Given the description of an element on the screen output the (x, y) to click on. 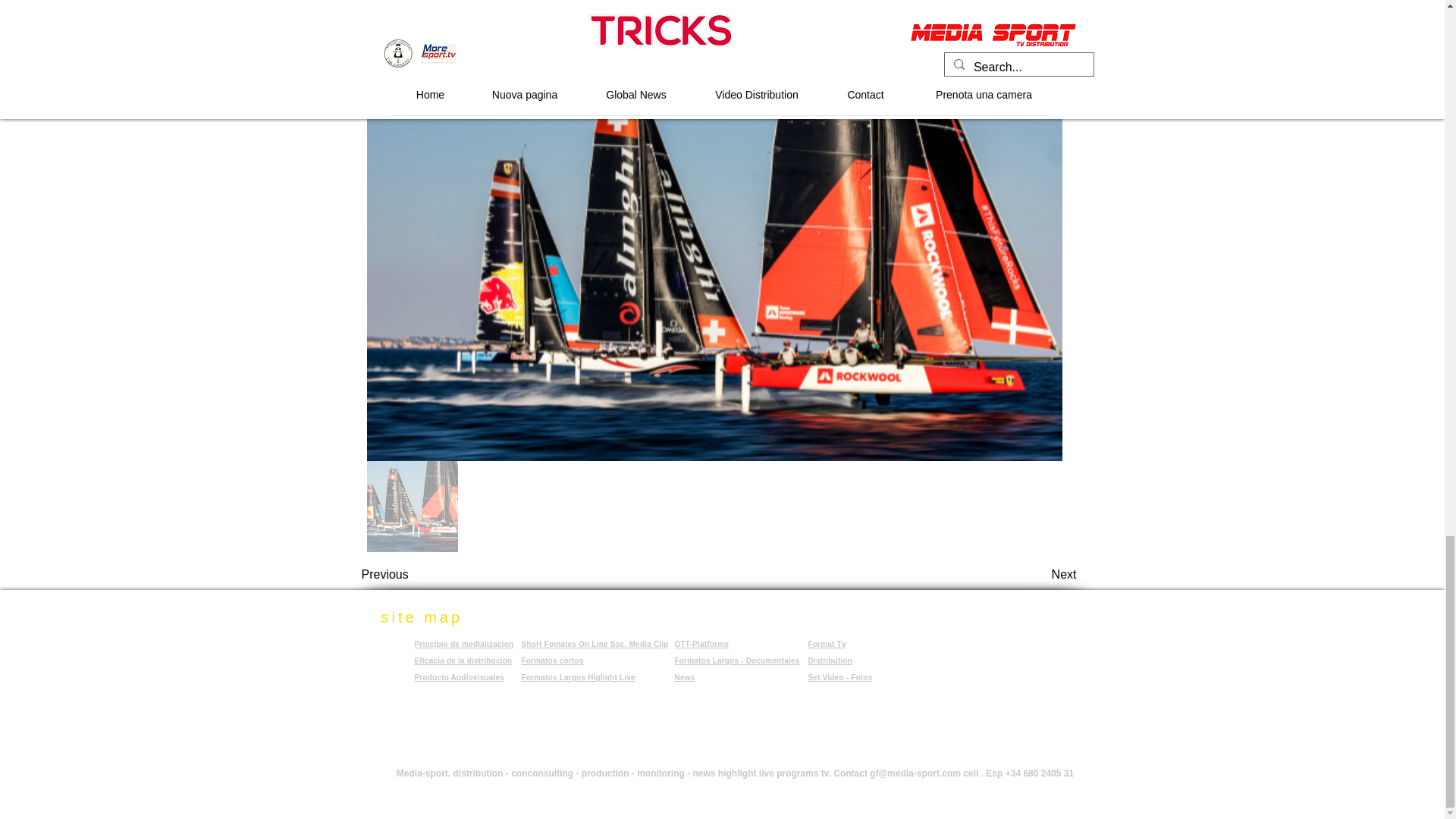
Short Fomates On Line Soc. Media Clip (594, 643)
Producto Audiovisuales (458, 677)
Next (1039, 574)
Formatos Largos - Documentales (737, 664)
Formatos Largos Higlight Live (577, 677)
Principio de medializacion (463, 643)
Eficacia de la distribucion (462, 660)
News (685, 677)
Format Tv (826, 643)
Formatos cortos (552, 660)
